Given the description of an element on the screen output the (x, y) to click on. 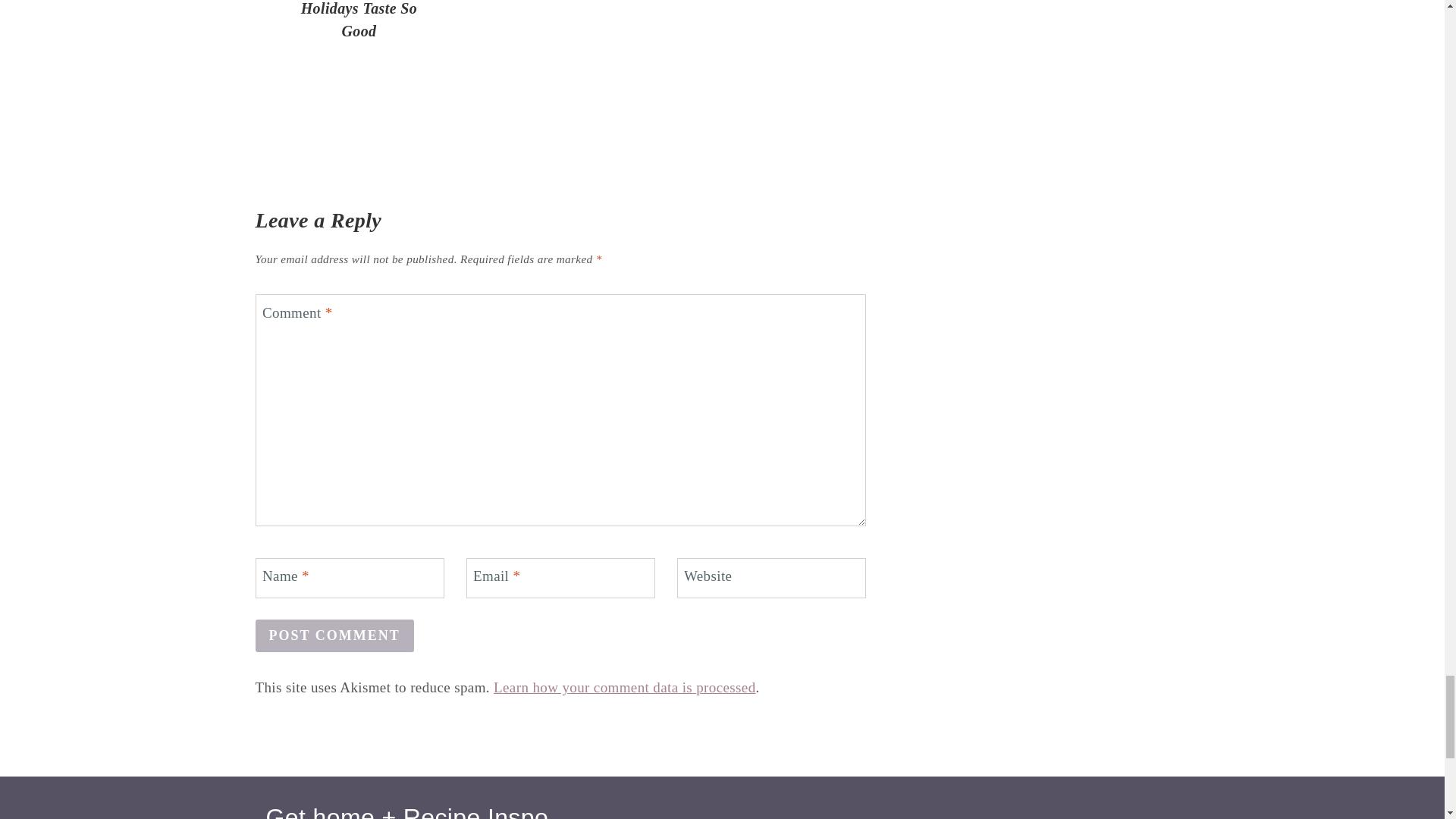
Post Comment (333, 635)
